Given the description of an element on the screen output the (x, y) to click on. 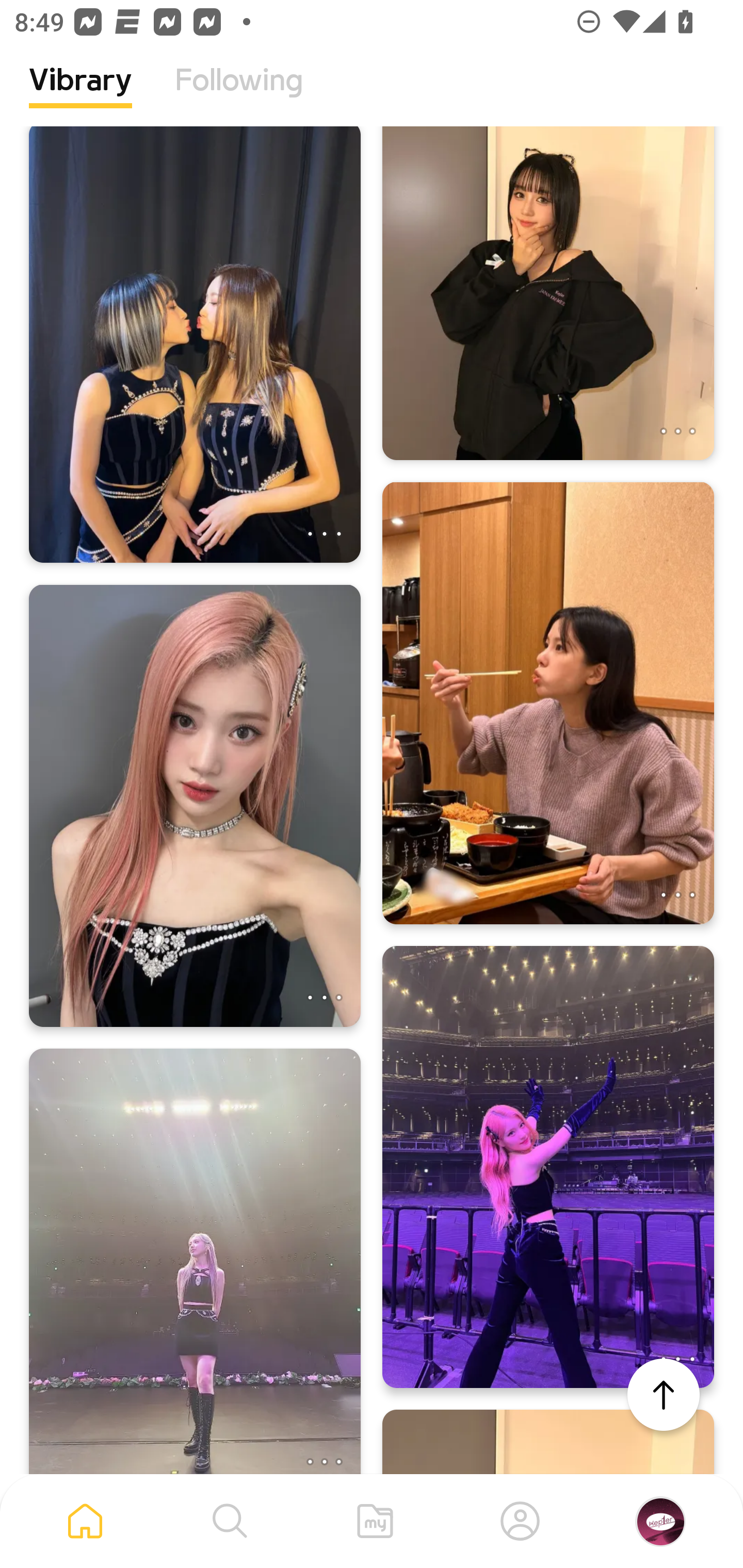
Vibrary (80, 95)
Following (239, 95)
